Given the description of an element on the screen output the (x, y) to click on. 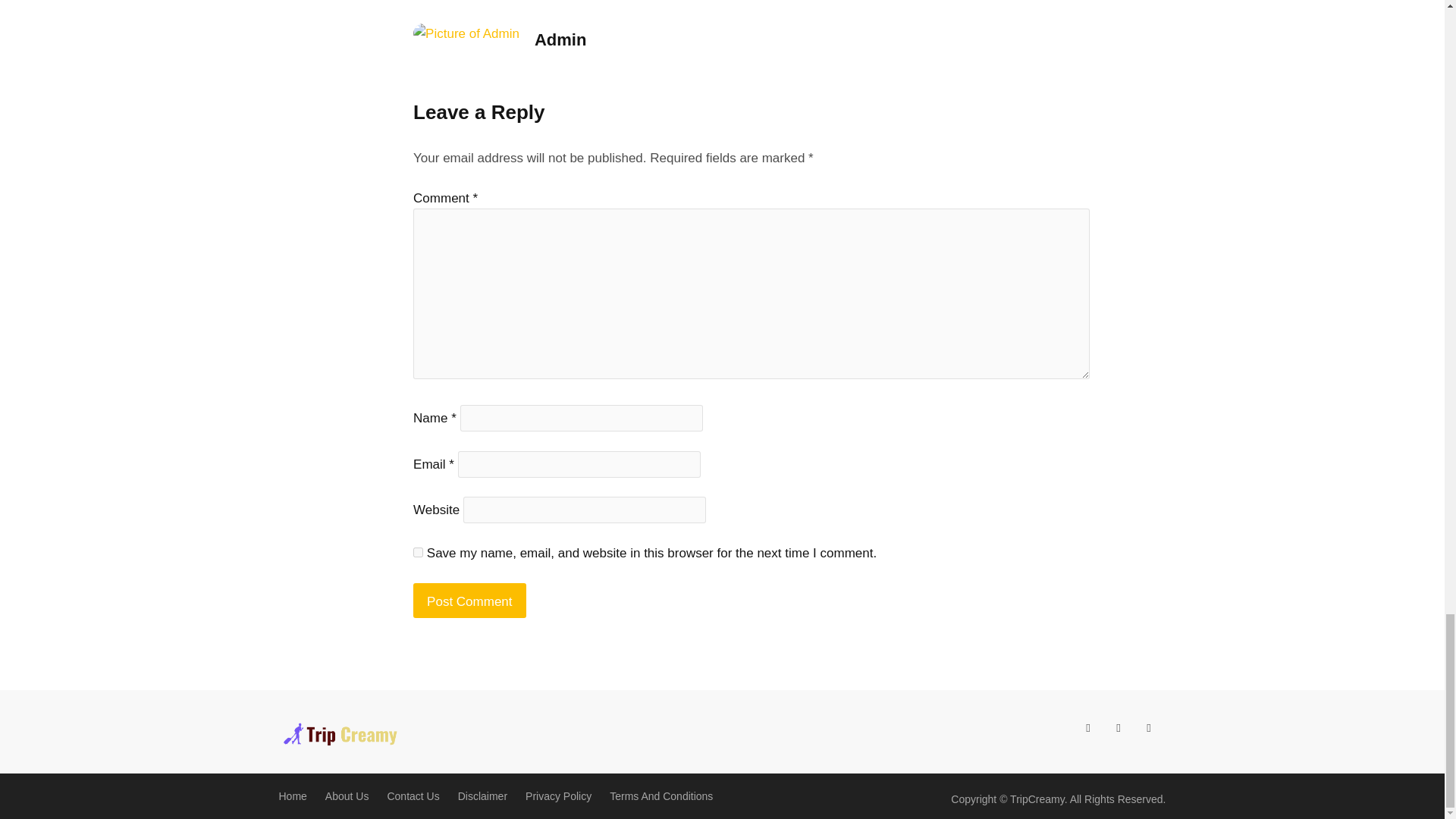
yes (418, 552)
Post Comment (469, 600)
